Given the description of an element on the screen output the (x, y) to click on. 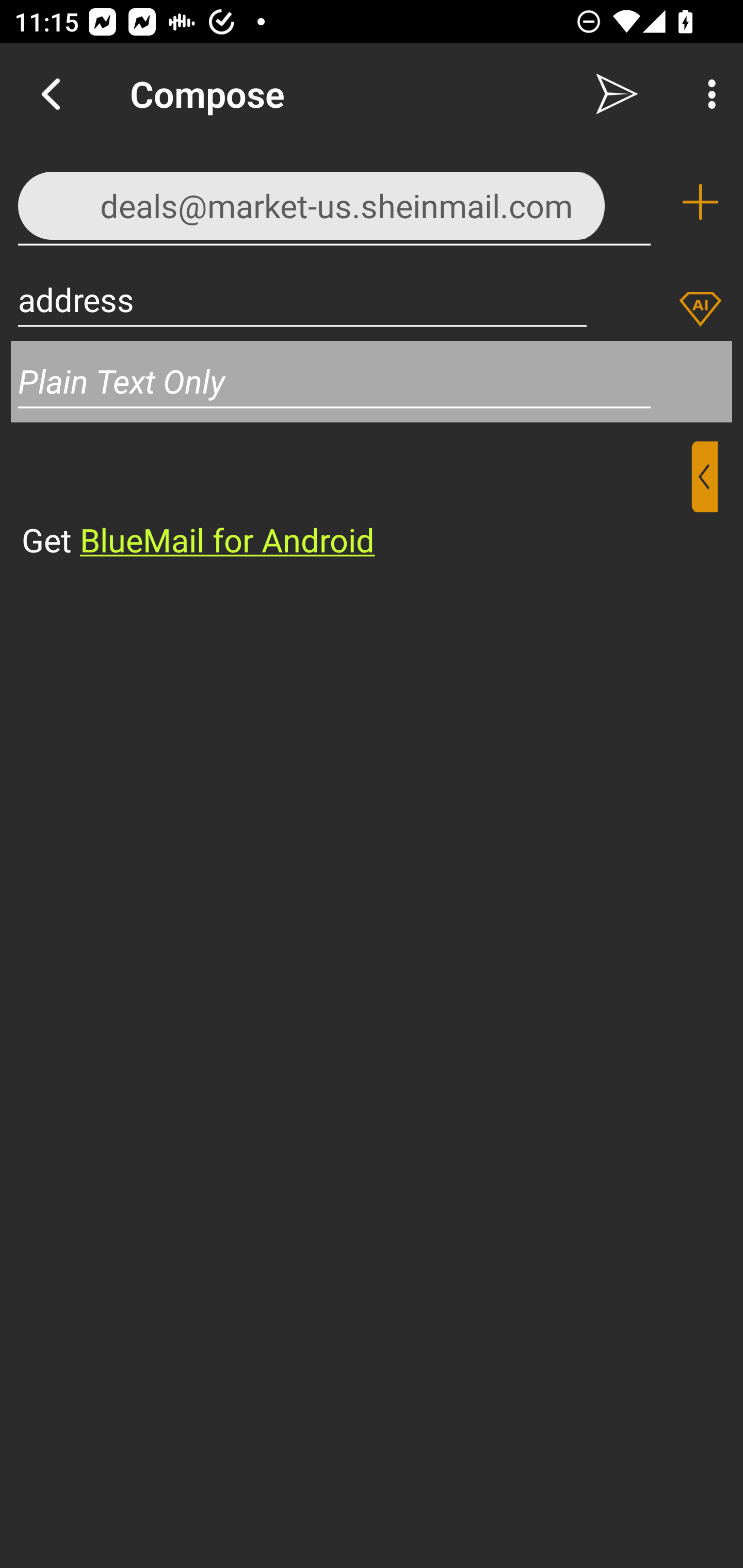
Navigate up (50, 93)
Send (616, 93)
More Options (706, 93)
<deals@market-us.sheinmail.com>,  (334, 201)
Add recipient (To) (699, 201)
address (302, 299)
Plain Text Only (371, 380)


⁣Get BlueMail for Android ​ (355, 501)
